Given the description of an element on the screen output the (x, y) to click on. 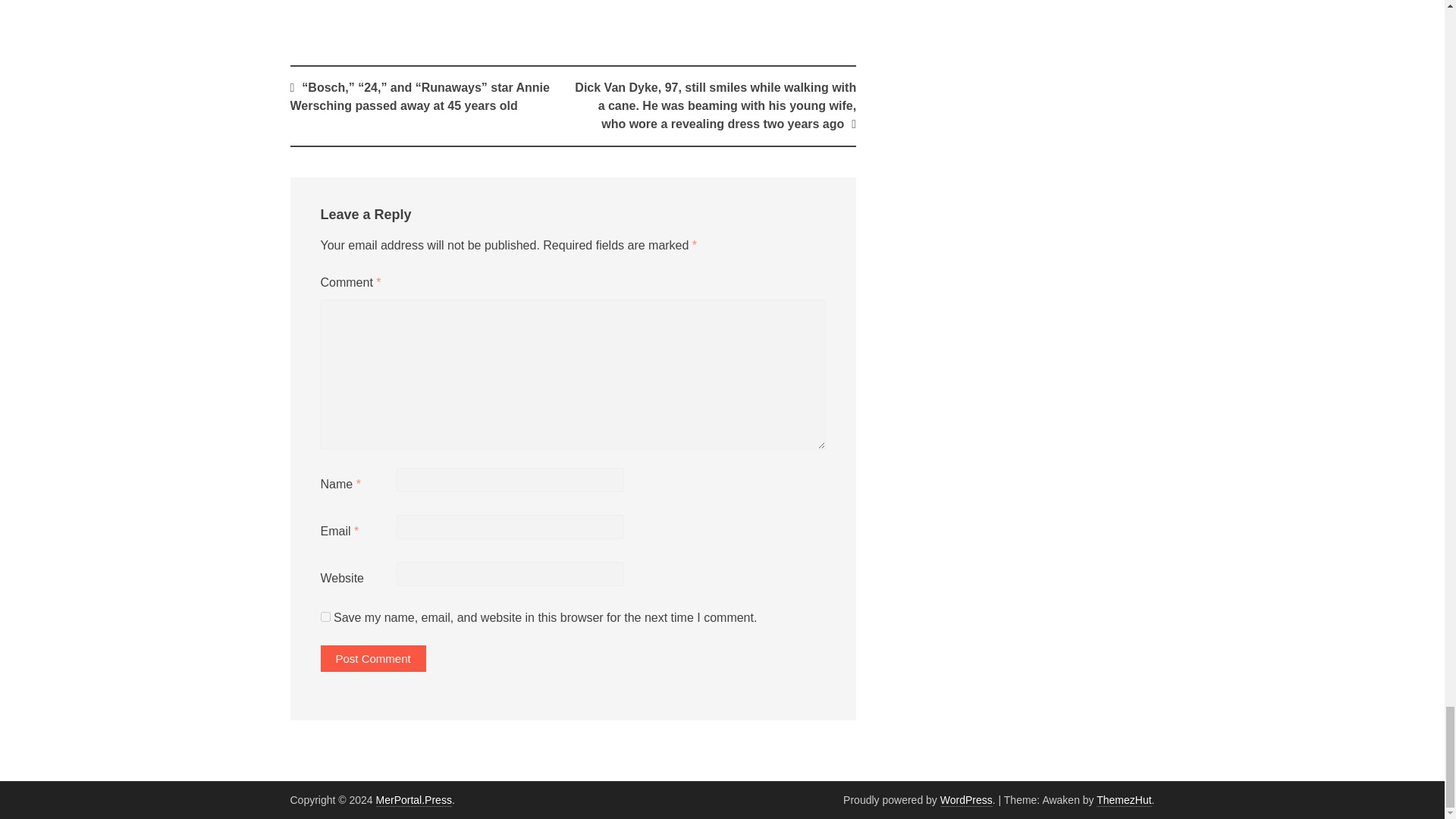
ThemezHut (1123, 799)
MerPortal.Press (413, 799)
yes (325, 615)
WordPress (966, 799)
WordPress (966, 799)
MerPortal.Press (413, 799)
Post Comment (372, 657)
Post Comment (372, 657)
